Given the description of an element on the screen output the (x, y) to click on. 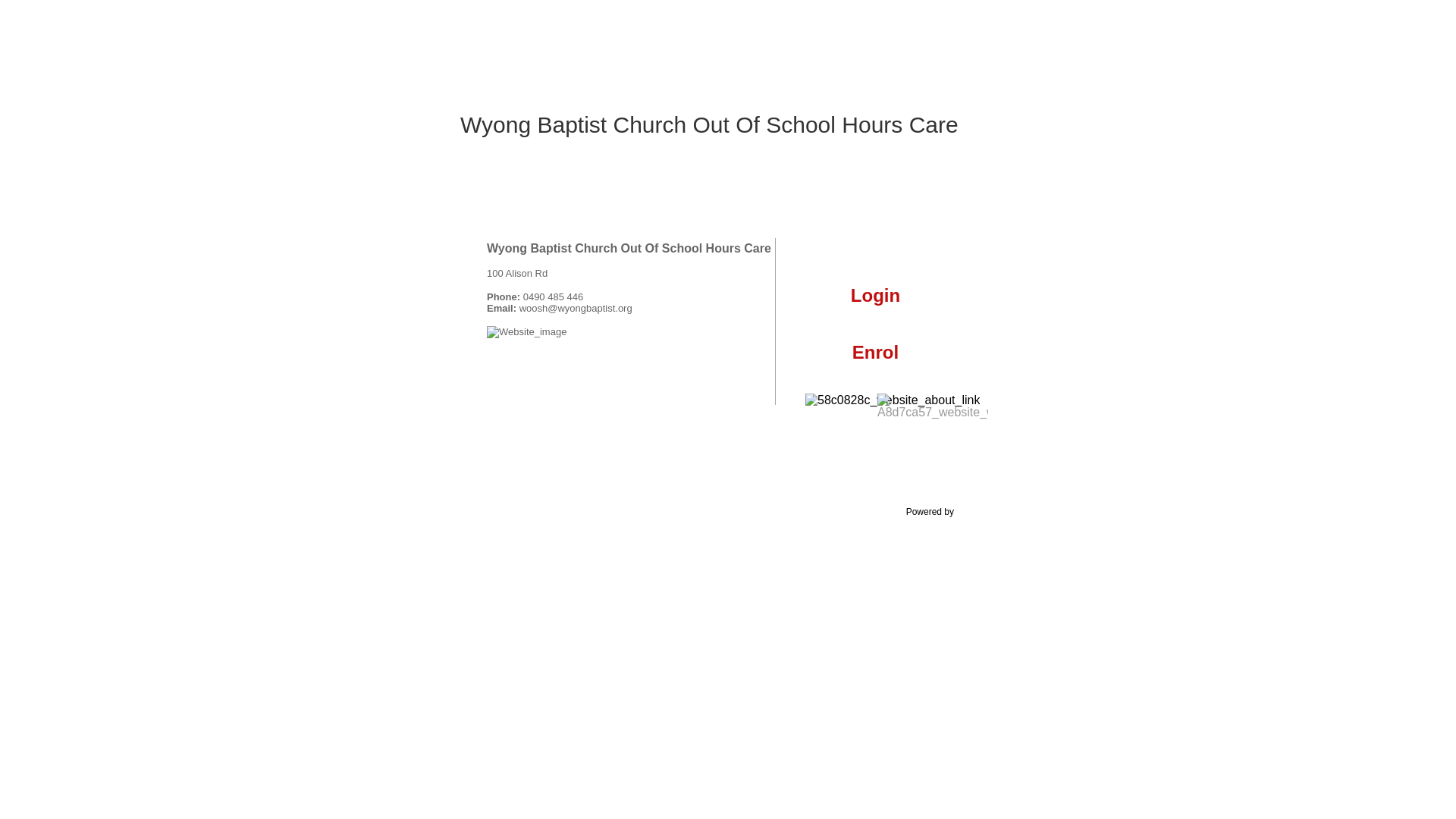
Back Element type: text (1104, 379)
Submit Element type: text (1100, 540)
Back Element type: text (1068, 540)
Back Element type: text (1104, 458)
Enrol Element type: text (875, 361)
Login Element type: text (875, 304)
Submit Element type: text (1100, 336)
Login Element type: text (1083, 344)
